Given the description of an element on the screen output the (x, y) to click on. 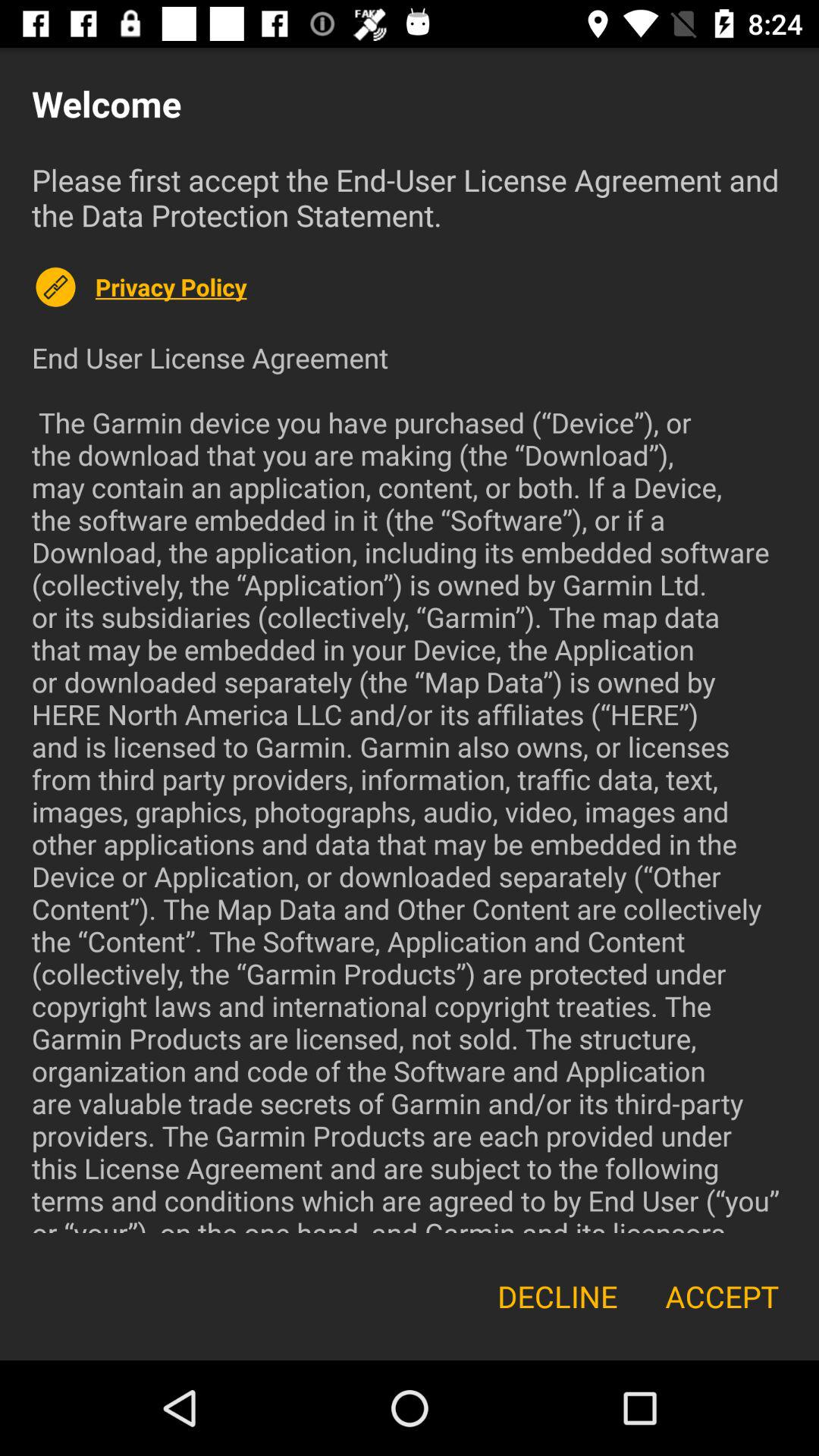
select decline icon (557, 1296)
